Given the description of an element on the screen output the (x, y) to click on. 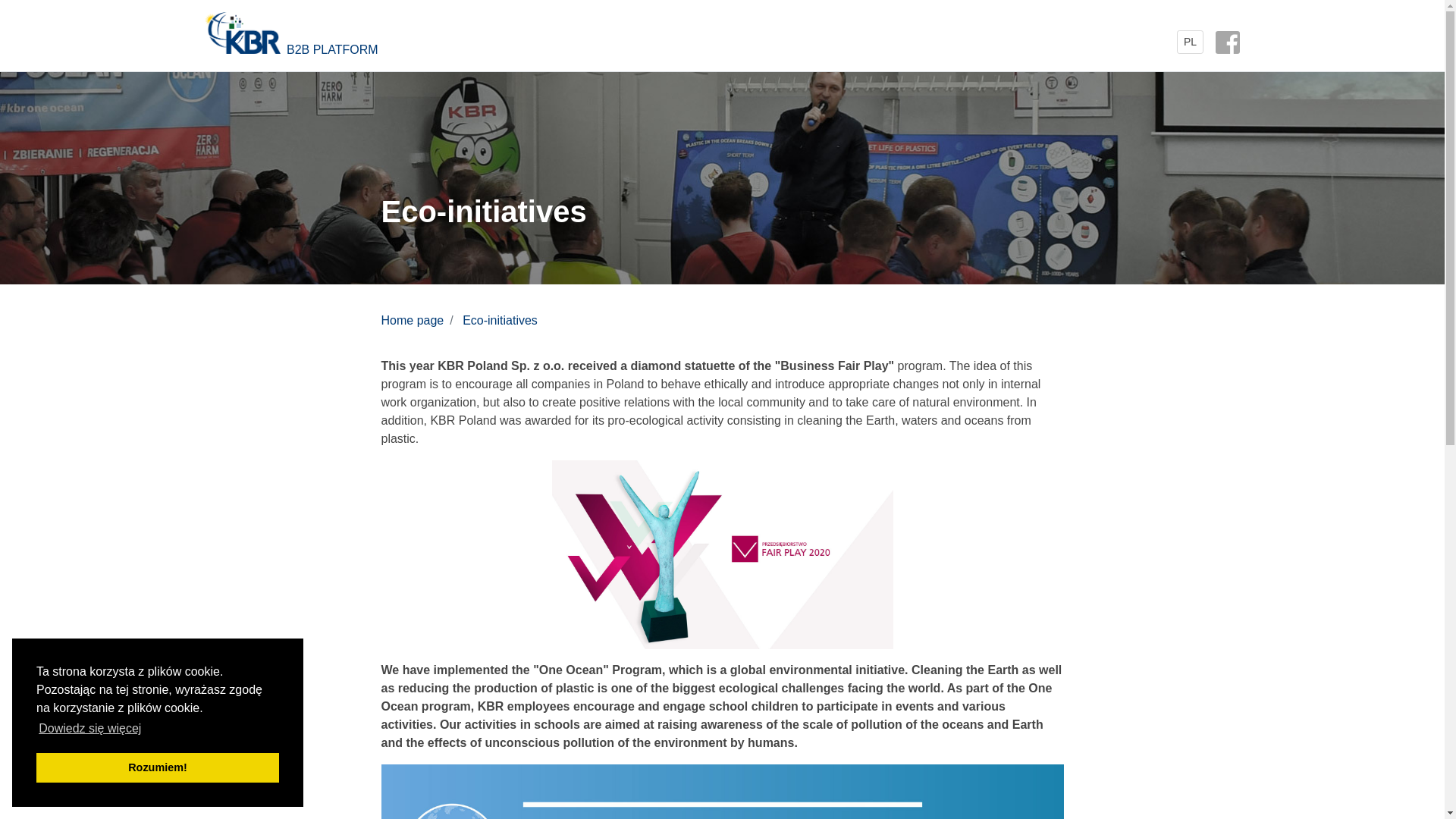
B2B PLATFORM (463, 41)
Rozumiem! (157, 767)
PL (1190, 42)
